Given the description of an element on the screen output the (x, y) to click on. 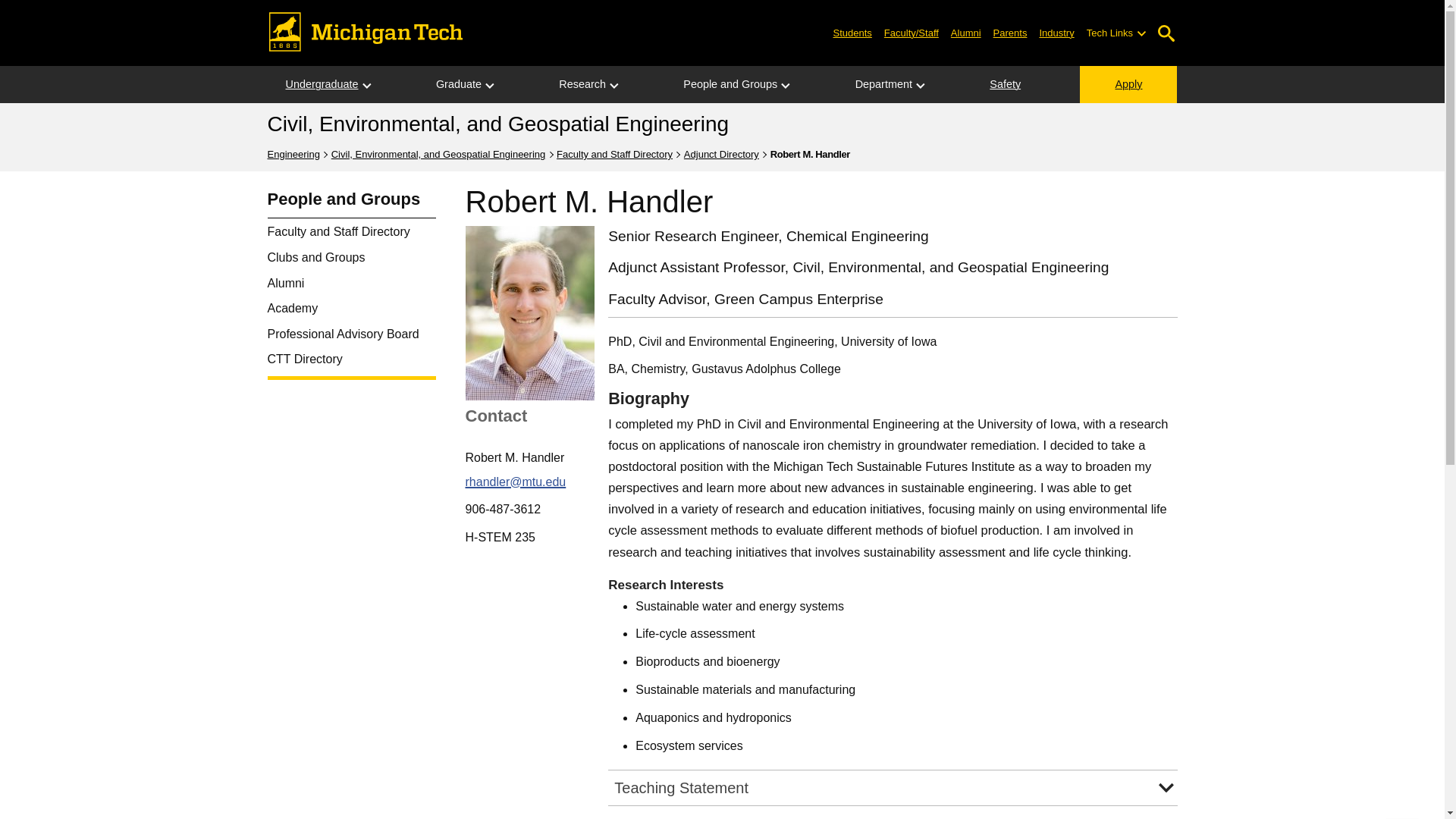
Alumni (965, 32)
Students (852, 32)
Parents (1010, 32)
Industry (1056, 32)
Undergraduate (320, 84)
Open Search (1166, 33)
